Given the description of an element on the screen output the (x, y) to click on. 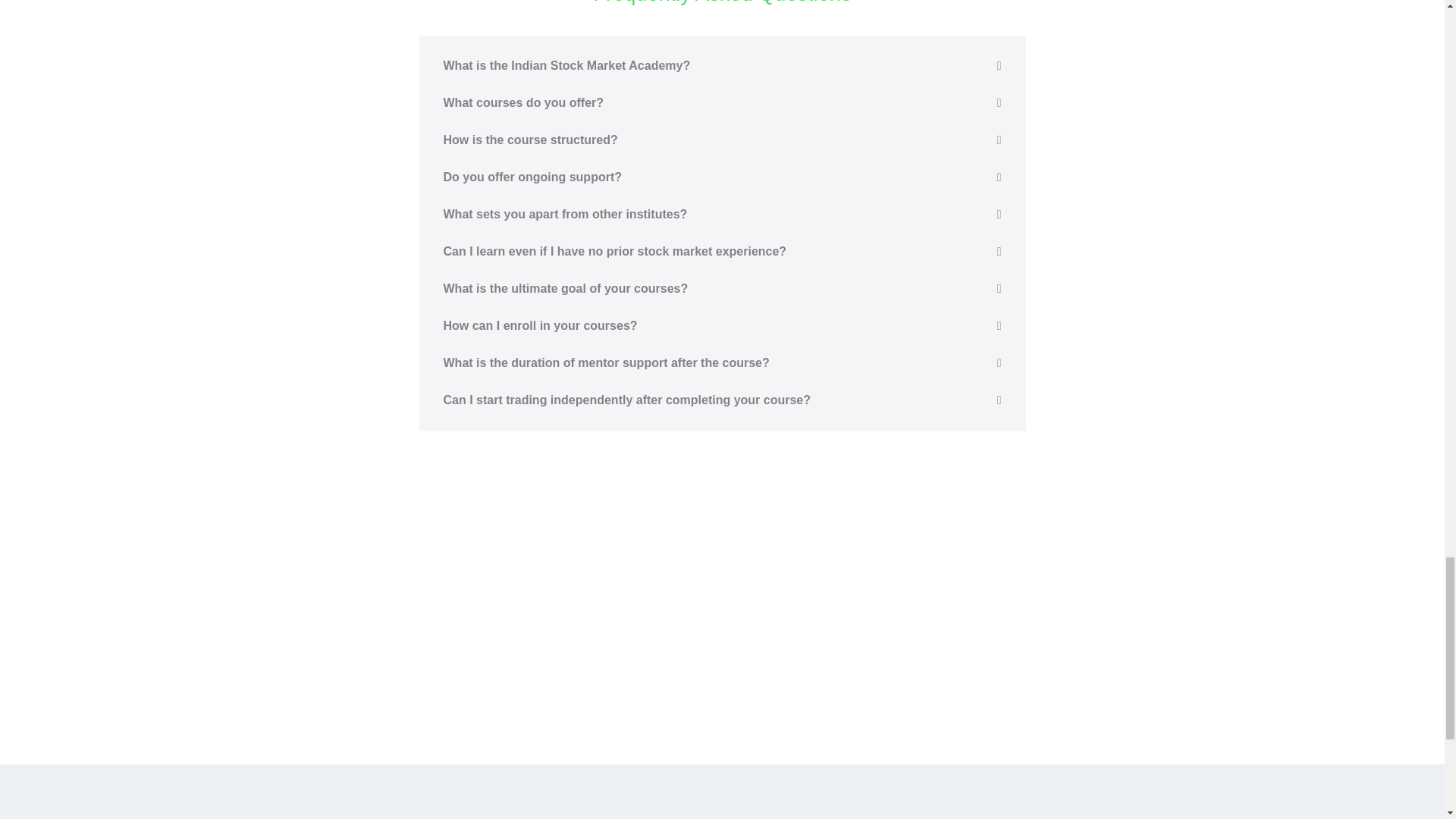
How can I enroll in your courses? (539, 325)
Can I learn even if I have no prior stock market experience? (614, 250)
What sets you apart from other institutes? (564, 214)
What is the duration of mentor support after the course? (605, 362)
How is the course structured? (529, 139)
Do you offer ongoing support? (531, 176)
What courses do you offer? (523, 102)
What is the ultimate goal of your courses? (564, 287)
What is the Indian Stock Market Academy? (566, 65)
